Given the description of an element on the screen output the (x, y) to click on. 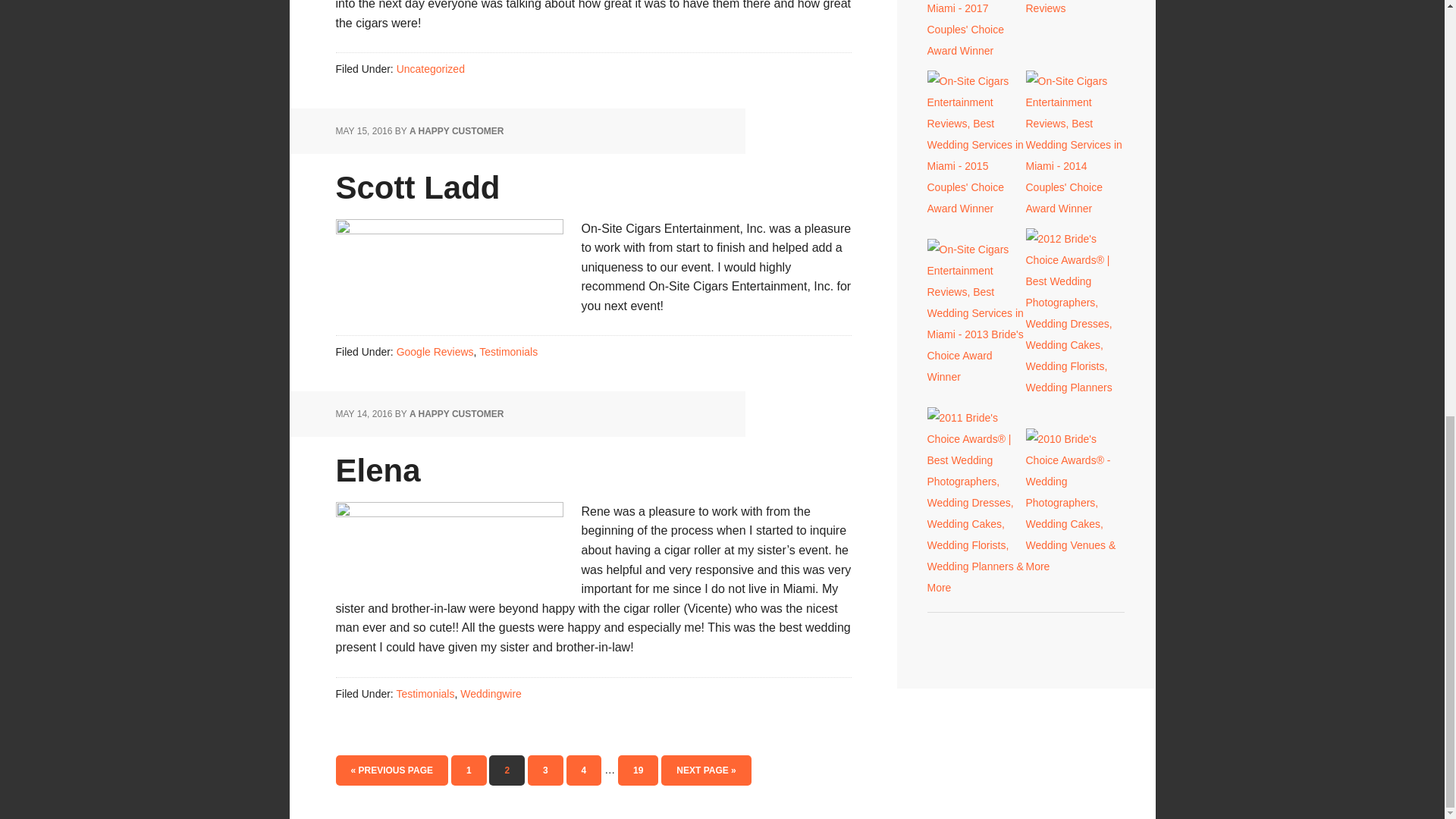
On-Site Cigars Entertainment Reviews (1074, 8)
